Given the description of an element on the screen output the (x, y) to click on. 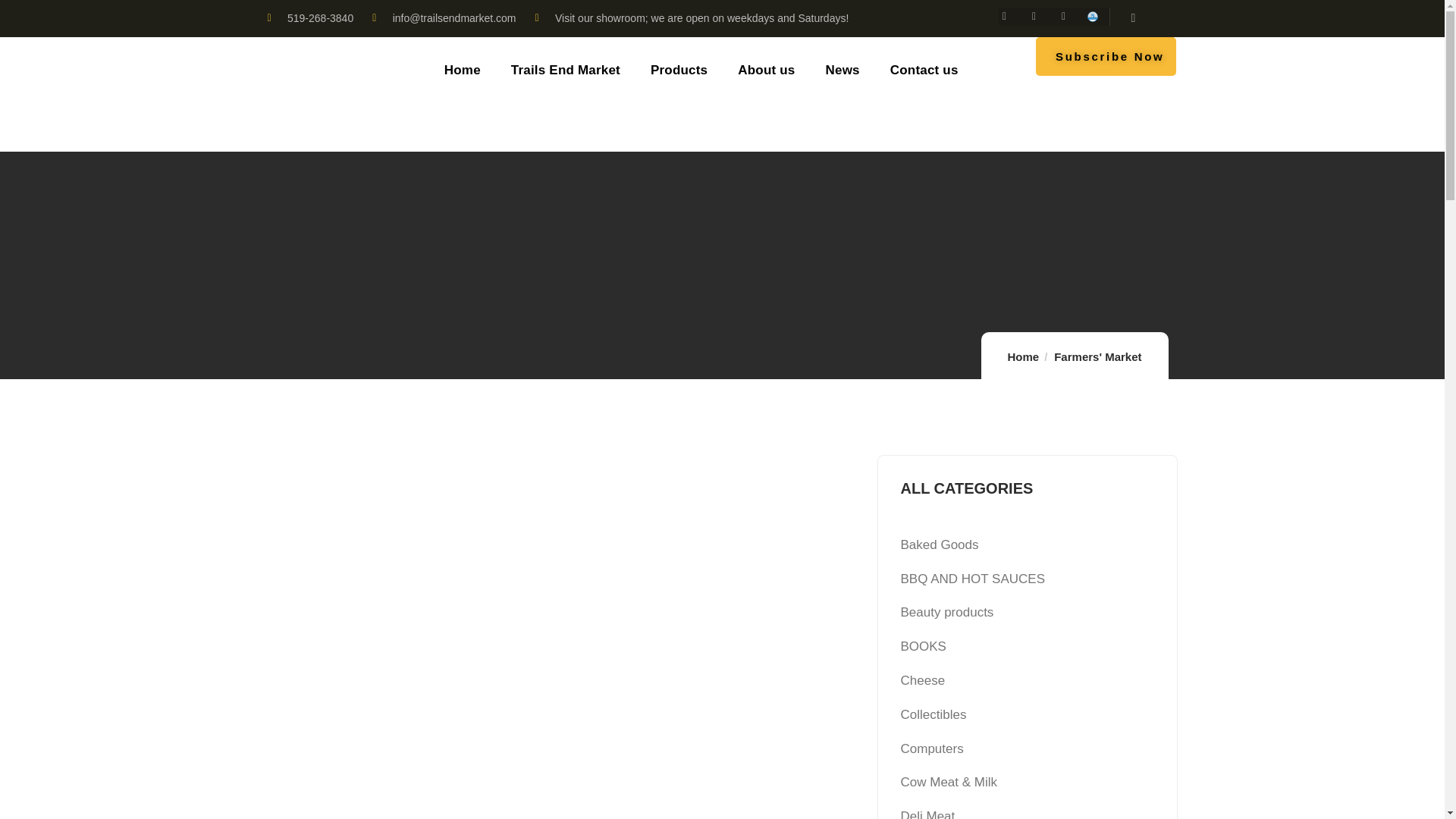
Home (306, 93)
Subscribe Now (1105, 56)
519-268-3840 (309, 18)
About us (766, 70)
News (842, 70)
Products (678, 70)
Home (1023, 356)
Home (462, 70)
Contact us (923, 70)
Trails End Market (565, 70)
